Given the description of an element on the screen output the (x, y) to click on. 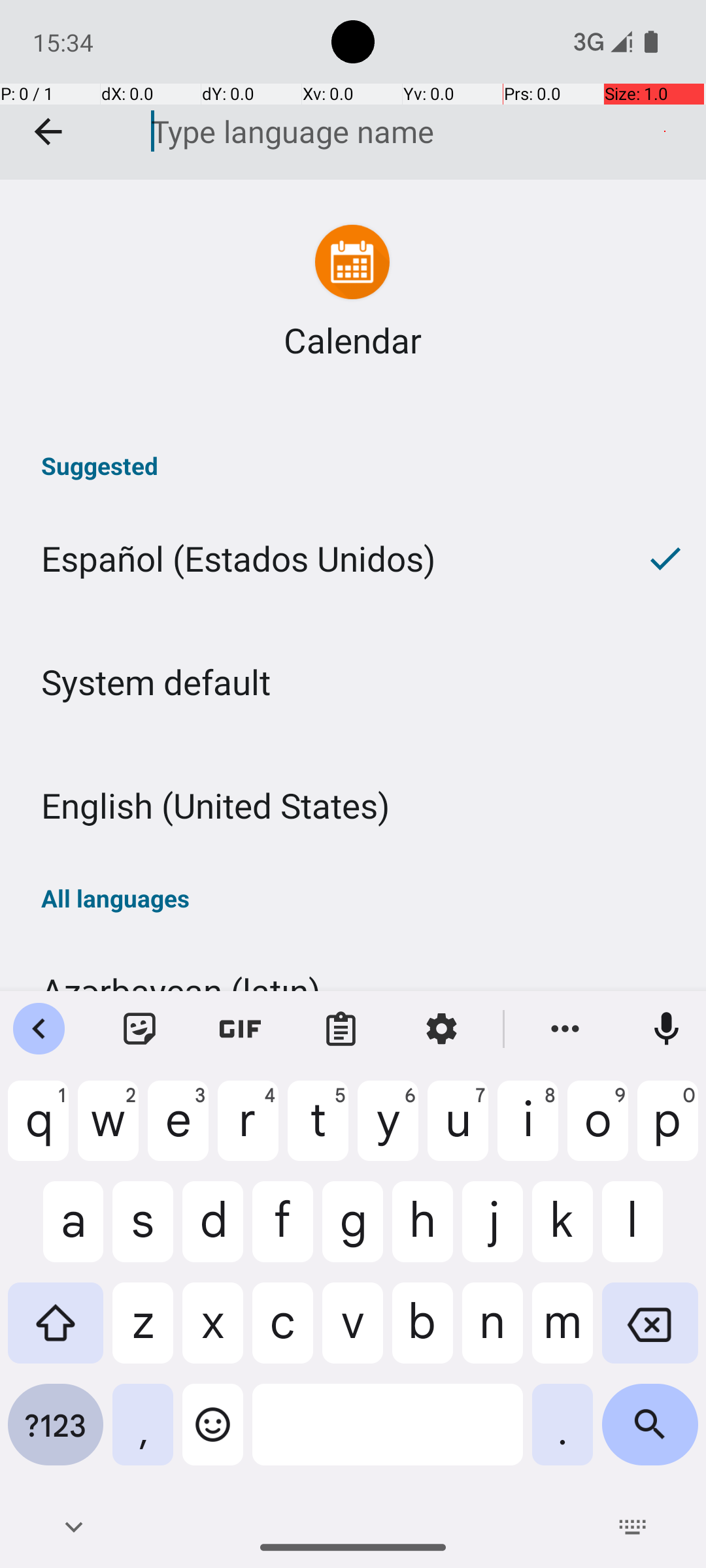
App Language Element type: android.widget.FrameLayout (353, 89)
Collapse Element type: android.widget.ImageButton (48, 131)
Suggested Element type: android.widget.TextView (353, 465)
System default Element type: android.widget.TextView (353, 681)
English (United States) Element type: android.widget.TextView (353, 804)
All languages Element type: android.widget.TextView (353, 897)
Azərbaycan (latın) Element type: android.widget.TextView (353, 990)
Type language name Element type: android.widget.AutoCompleteTextView (397, 130)
Español (Estados Unidos) Element type: android.widget.TextView (312, 558)
